Given the description of an element on the screen output the (x, y) to click on. 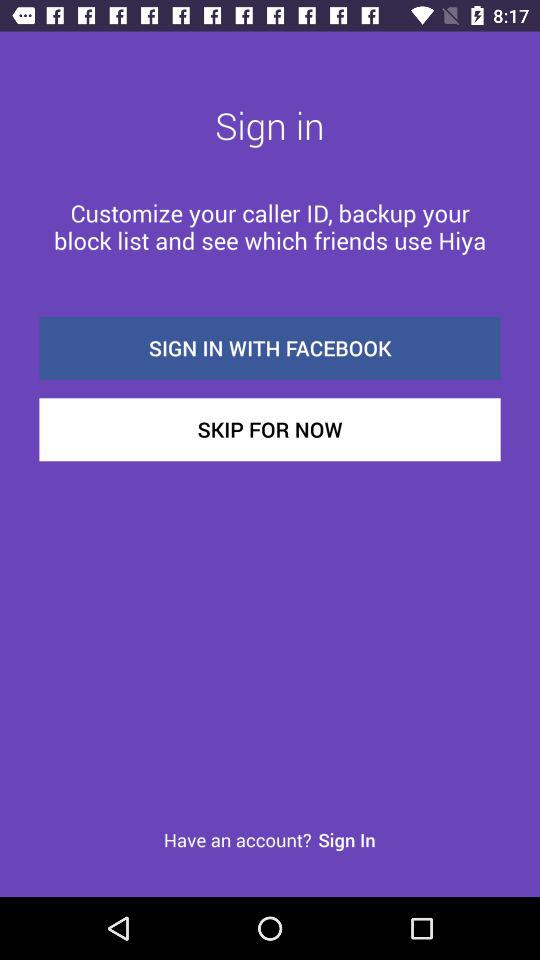
turn on the item above have an account? (269, 429)
